Given the description of an element on the screen output the (x, y) to click on. 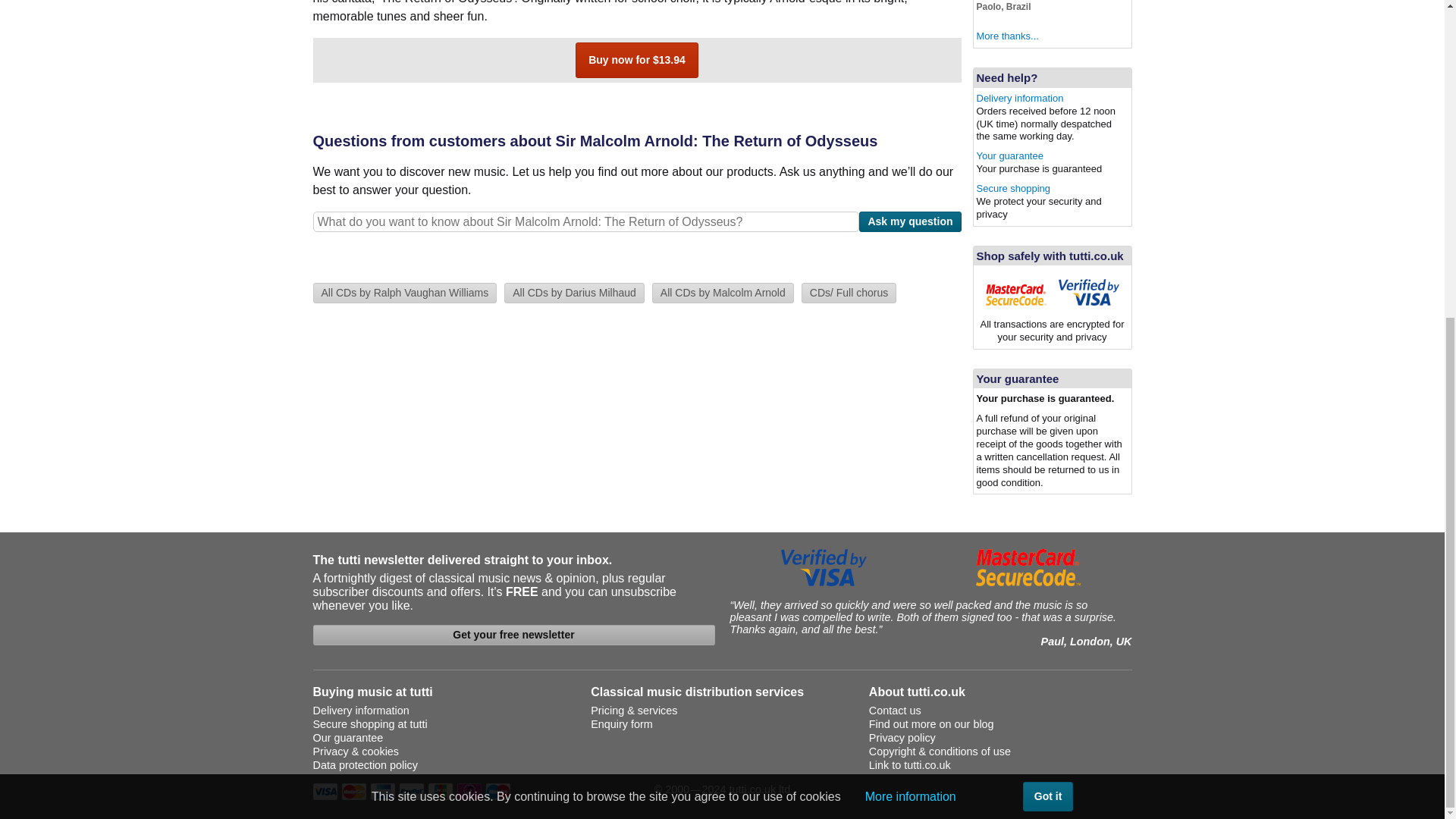
All CDs by Ralph Vaughan Williams (404, 292)
All CDs by Malcolm Arnold (722, 292)
All CDs by Darius Milhaud (574, 292)
Ask my question (909, 221)
